Given the description of an element on the screen output the (x, y) to click on. 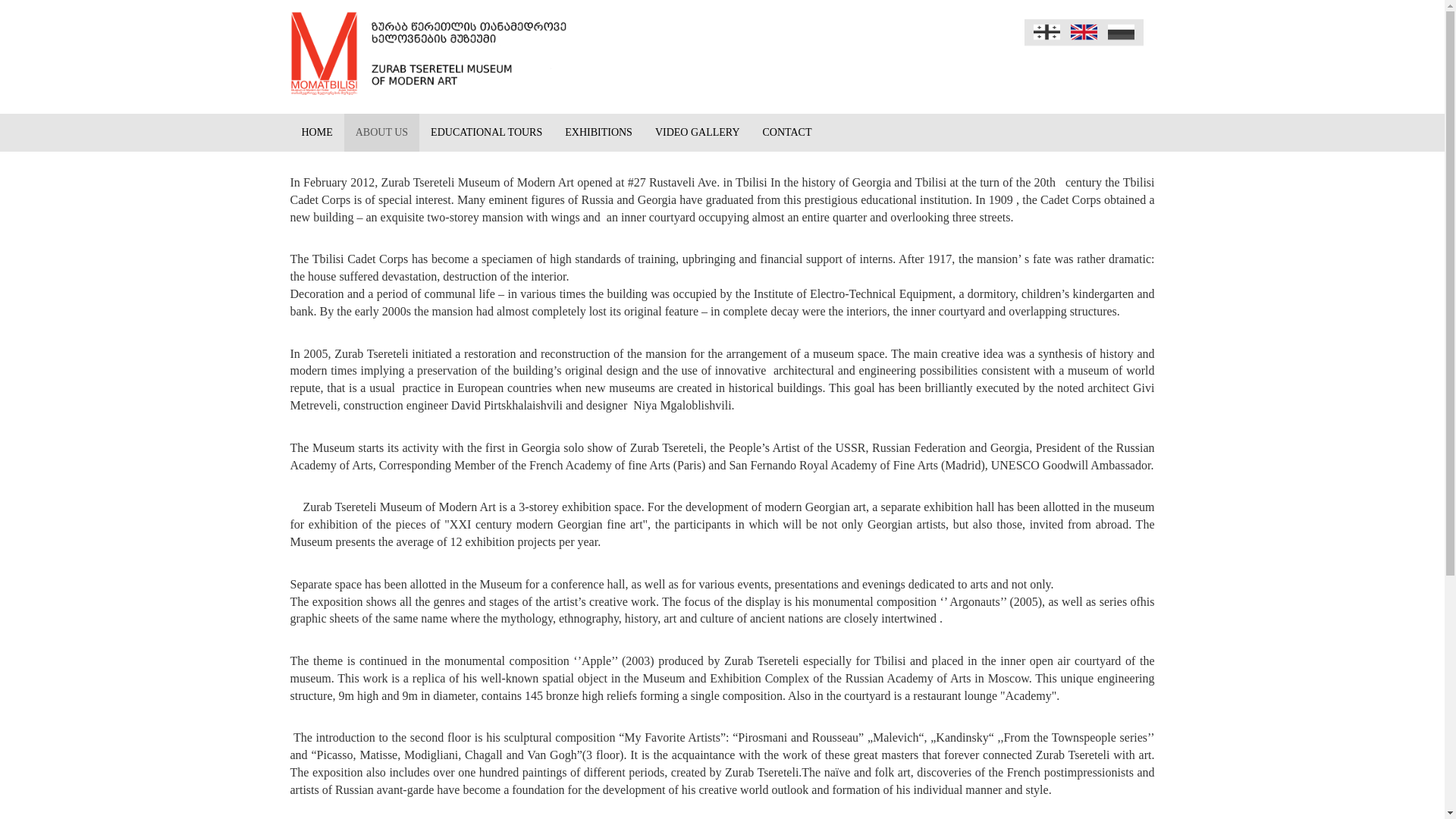
EXHIBITIONS (598, 132)
CONTACT (787, 132)
VIDEO GALLERY (697, 132)
ABOUT US (381, 132)
EDUCATIONAL TOURS (486, 132)
HOME (316, 132)
